Given the description of an element on the screen output the (x, y) to click on. 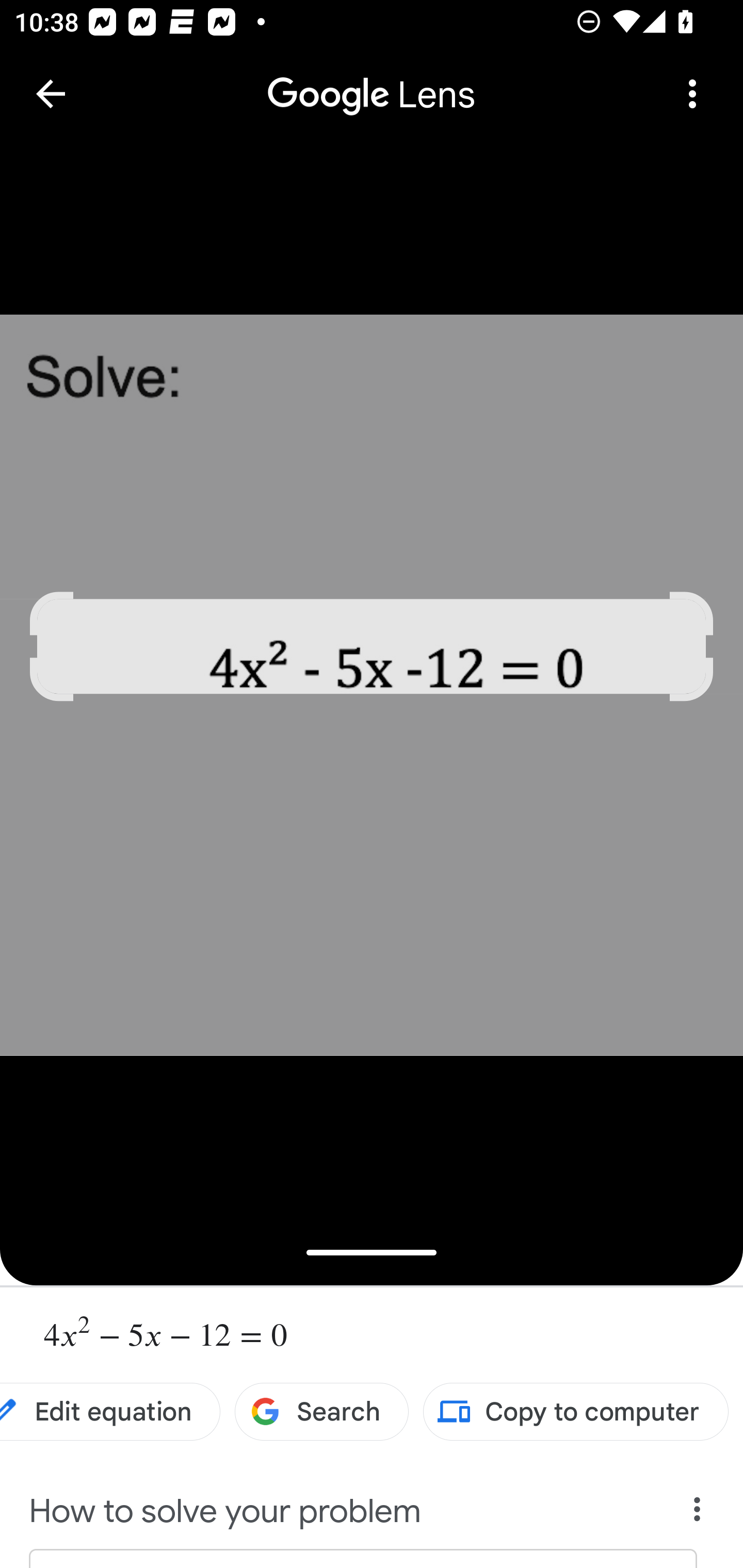
Google Lens Lens (371, 80)
Go back (50, 94)
More options (692, 94)
Edit equation (110, 1411)
Search (321, 1411)
Copy to computer (575, 1411)
Open privacy policy menu (697, 1513)
